Given the description of an element on the screen output the (x, y) to click on. 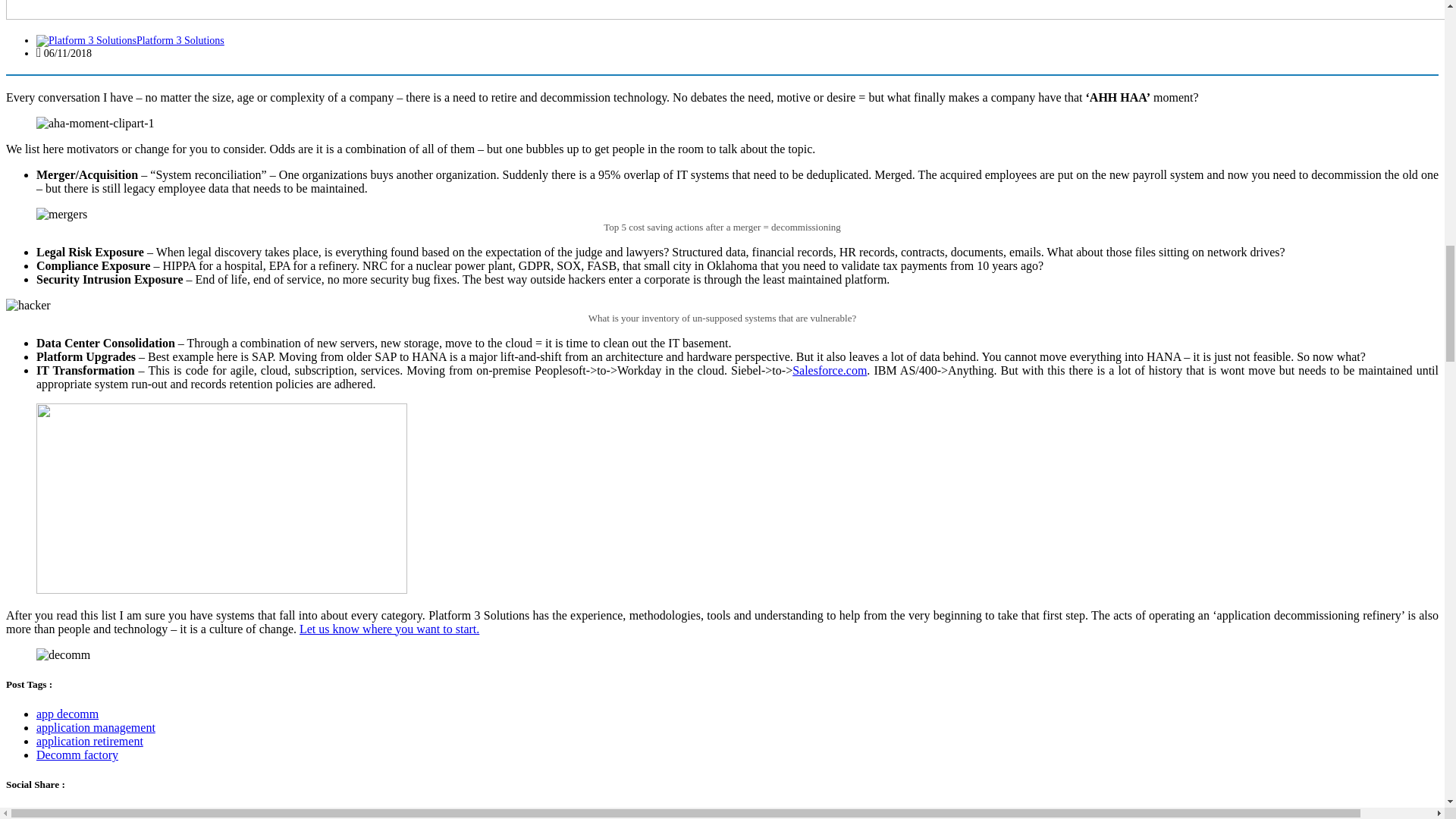
app decomm (67, 713)
application retirement (89, 740)
Platform 3 Solutions (130, 40)
Salesforce.com (829, 369)
Decomm factory (76, 754)
Let us know where you want to start. (389, 627)
application management (95, 727)
